Given the description of an element on the screen output the (x, y) to click on. 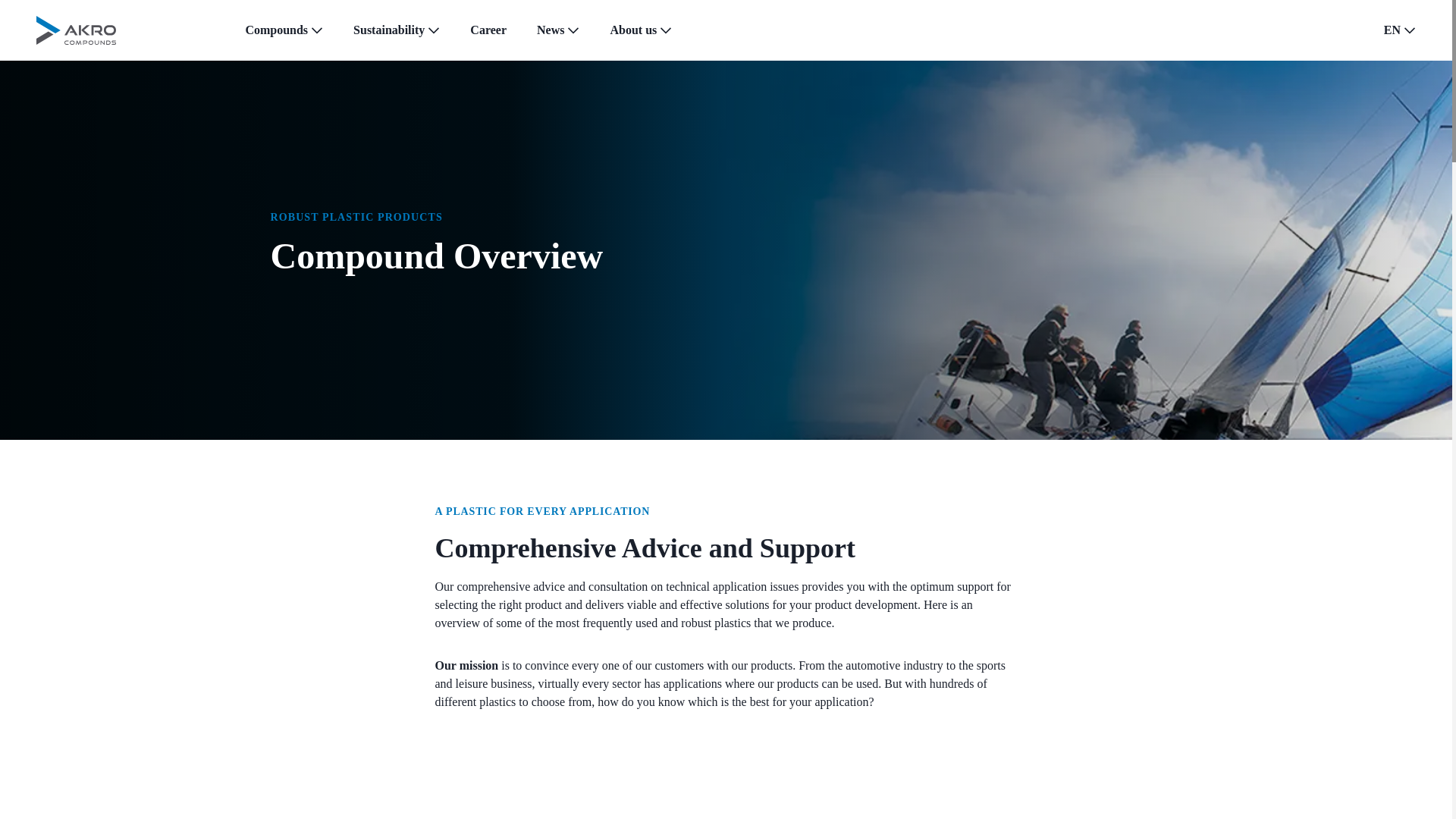
Career (488, 29)
About us (633, 30)
News (550, 30)
Compounds (275, 30)
Sustainability (389, 30)
